Given the description of an element on the screen output the (x, y) to click on. 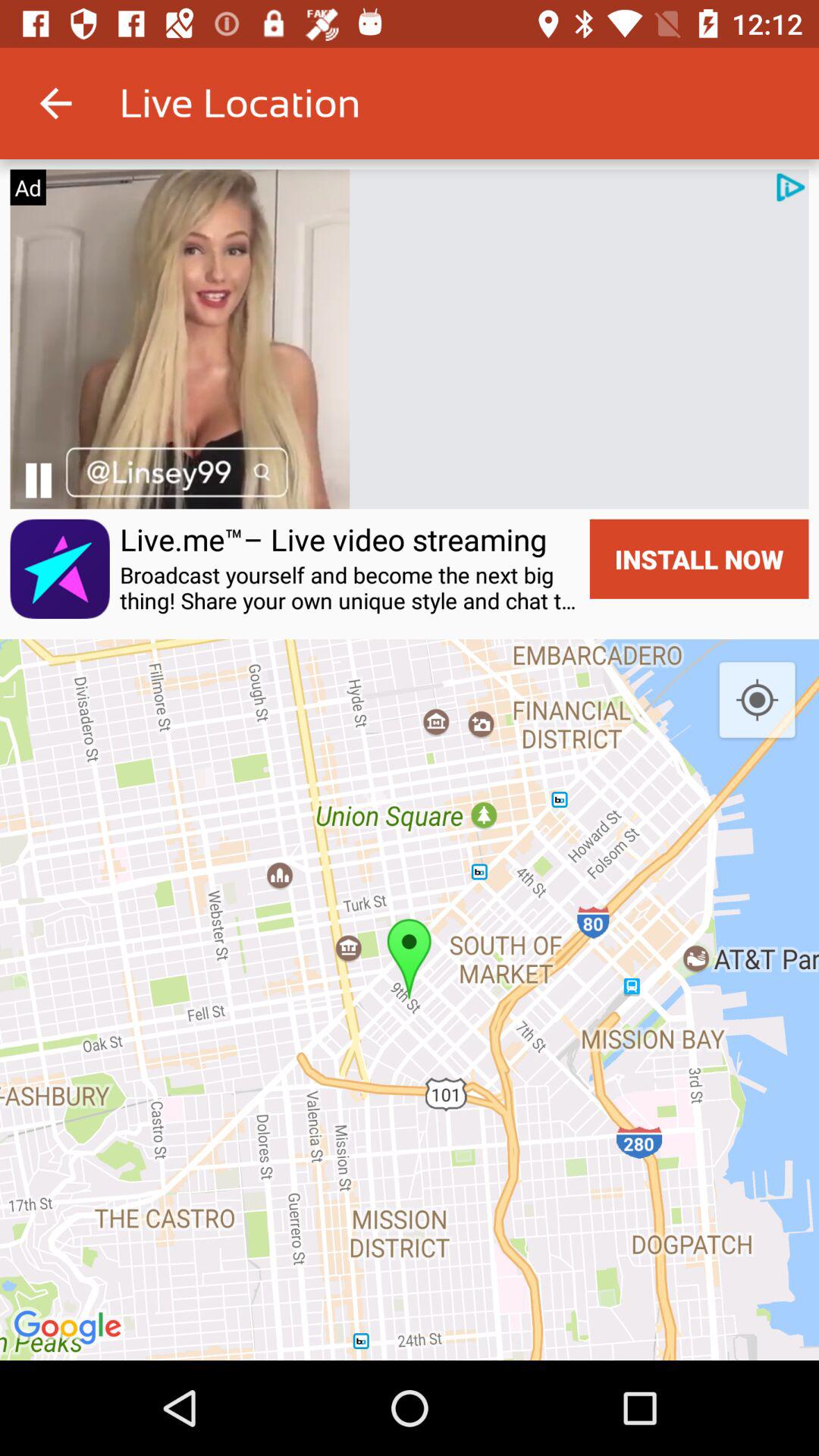
tap the icon on the left (59, 568)
